Given the description of an element on the screen output the (x, y) to click on. 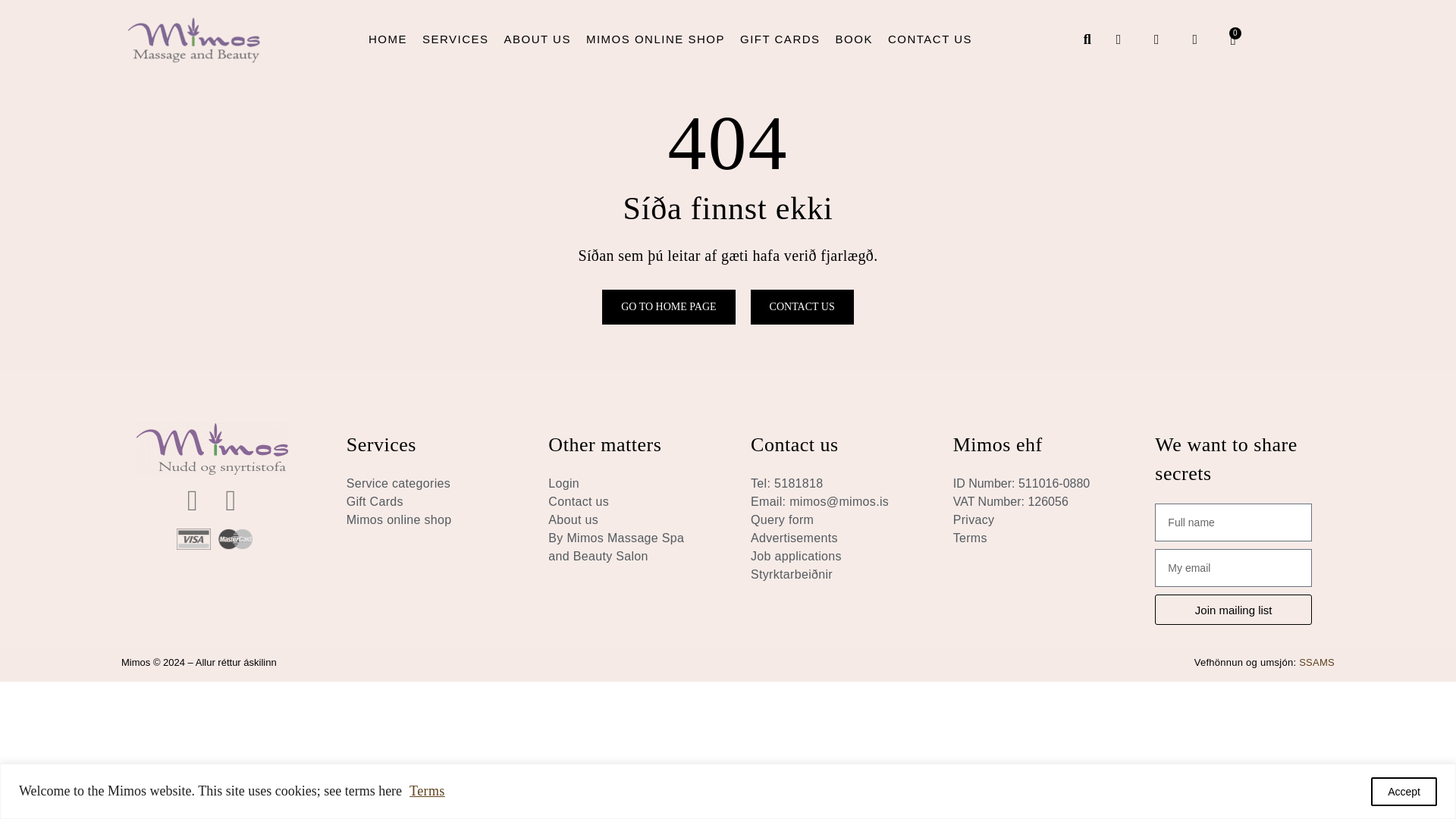
GIFT CARDS (780, 39)
CONTACT US (929, 39)
BOOK (854, 39)
ABOUT US (537, 39)
HOME (387, 39)
SERVICES (455, 39)
MIMOS ONLINE SHOP (655, 39)
